Given the description of an element on the screen output the (x, y) to click on. 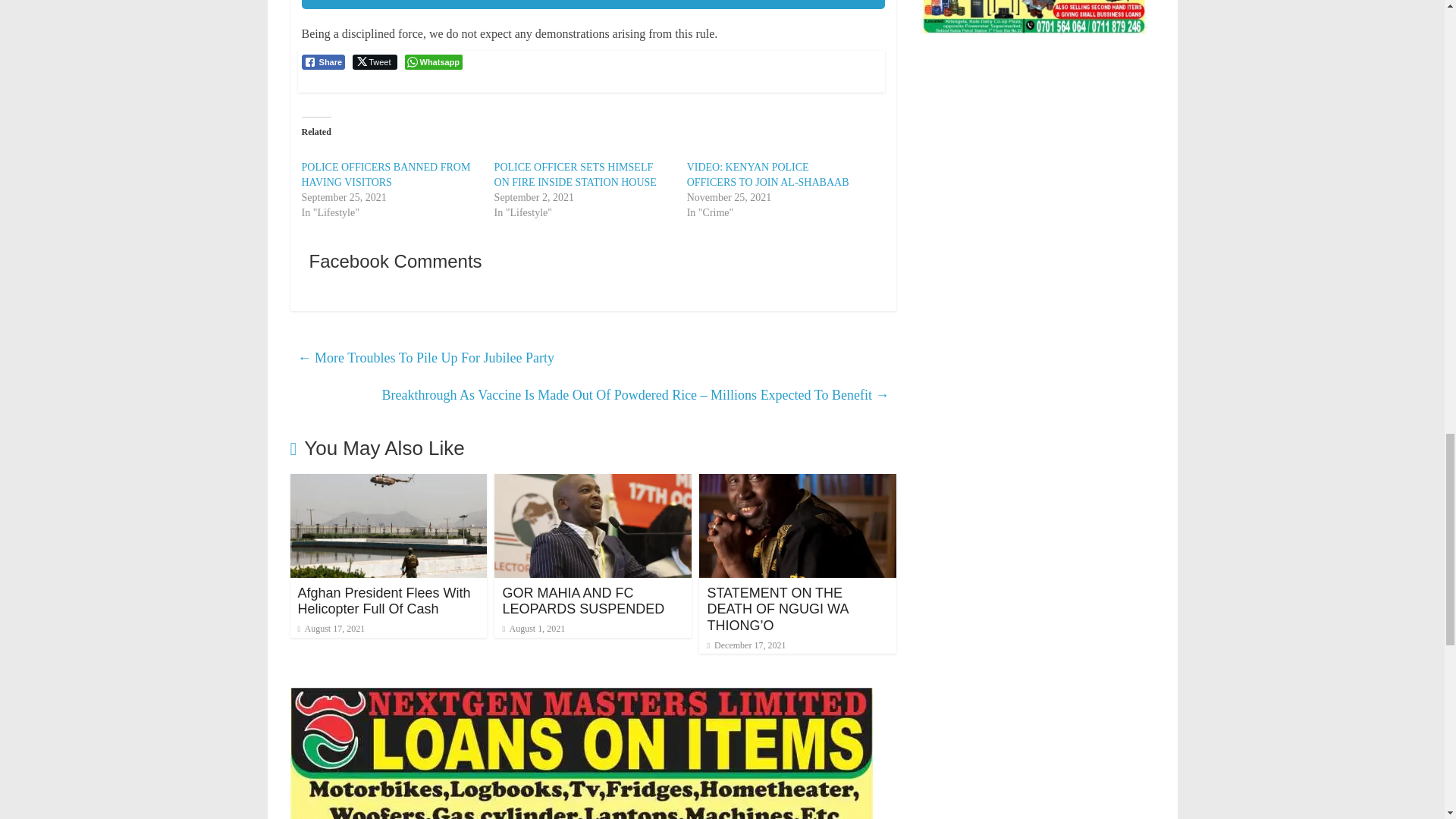
Tweet (374, 61)
August 17, 2021 (331, 628)
POLICE OFFICER SETS HIMSELF ON FIRE INSIDE STATION HOUSE (575, 174)
Share (323, 61)
POLICE OFFICERS BANNED FROM HAVING VISITORS (385, 174)
VIDEO: KENYAN POLICE OFFICERS TO JOIN AL-SHABAAB (767, 174)
Afghan President Flees With Helicopter Full Of Cash (383, 601)
Whatsapp (433, 61)
